Given the description of an element on the screen output the (x, y) to click on. 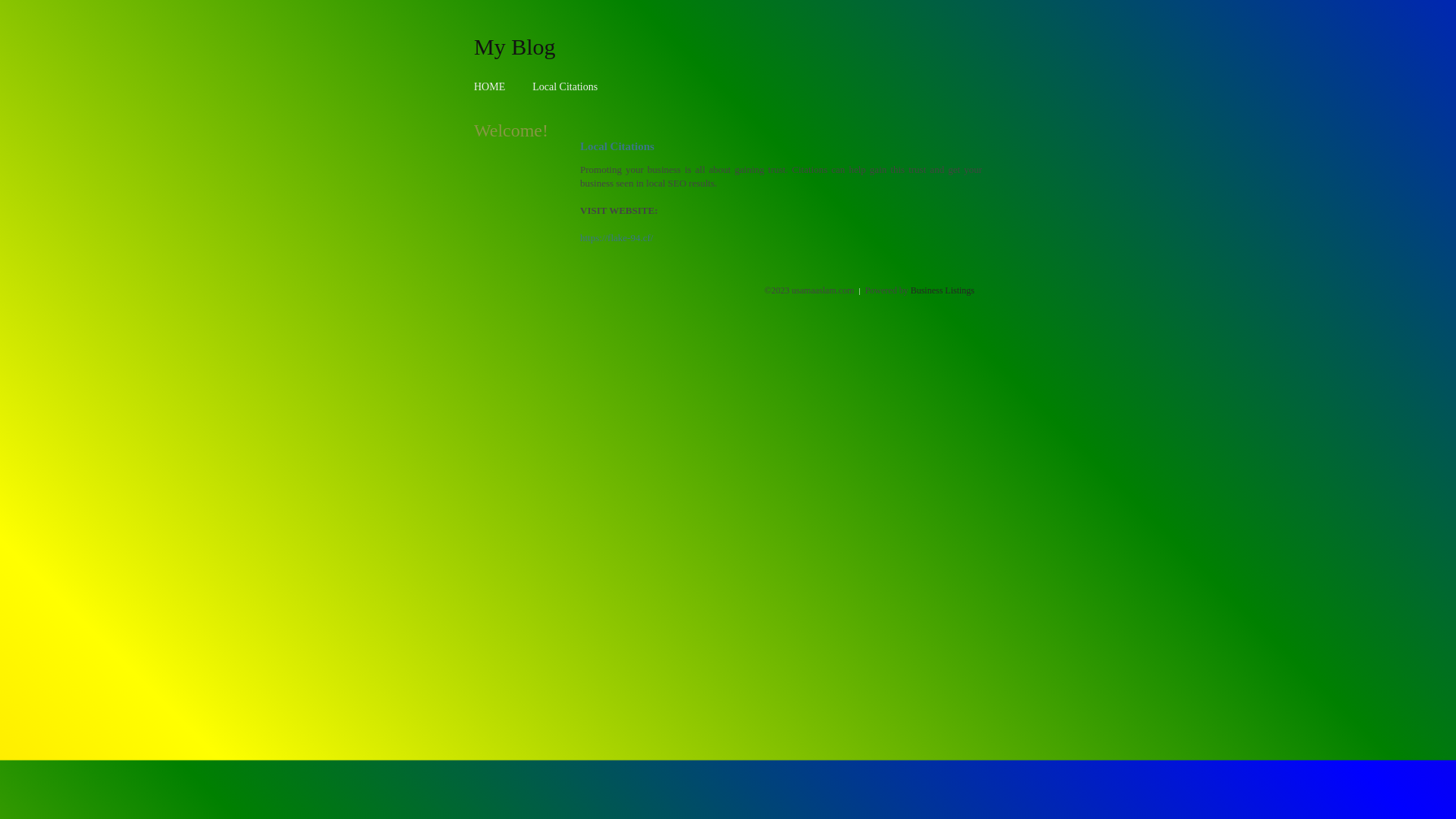
Local Citations Element type: text (564, 86)
My Blog Element type: text (514, 46)
Business Listings Element type: text (942, 290)
HOME Element type: text (489, 86)
https://flake-94.cf/ Element type: text (616, 237)
